Given the description of an element on the screen output the (x, y) to click on. 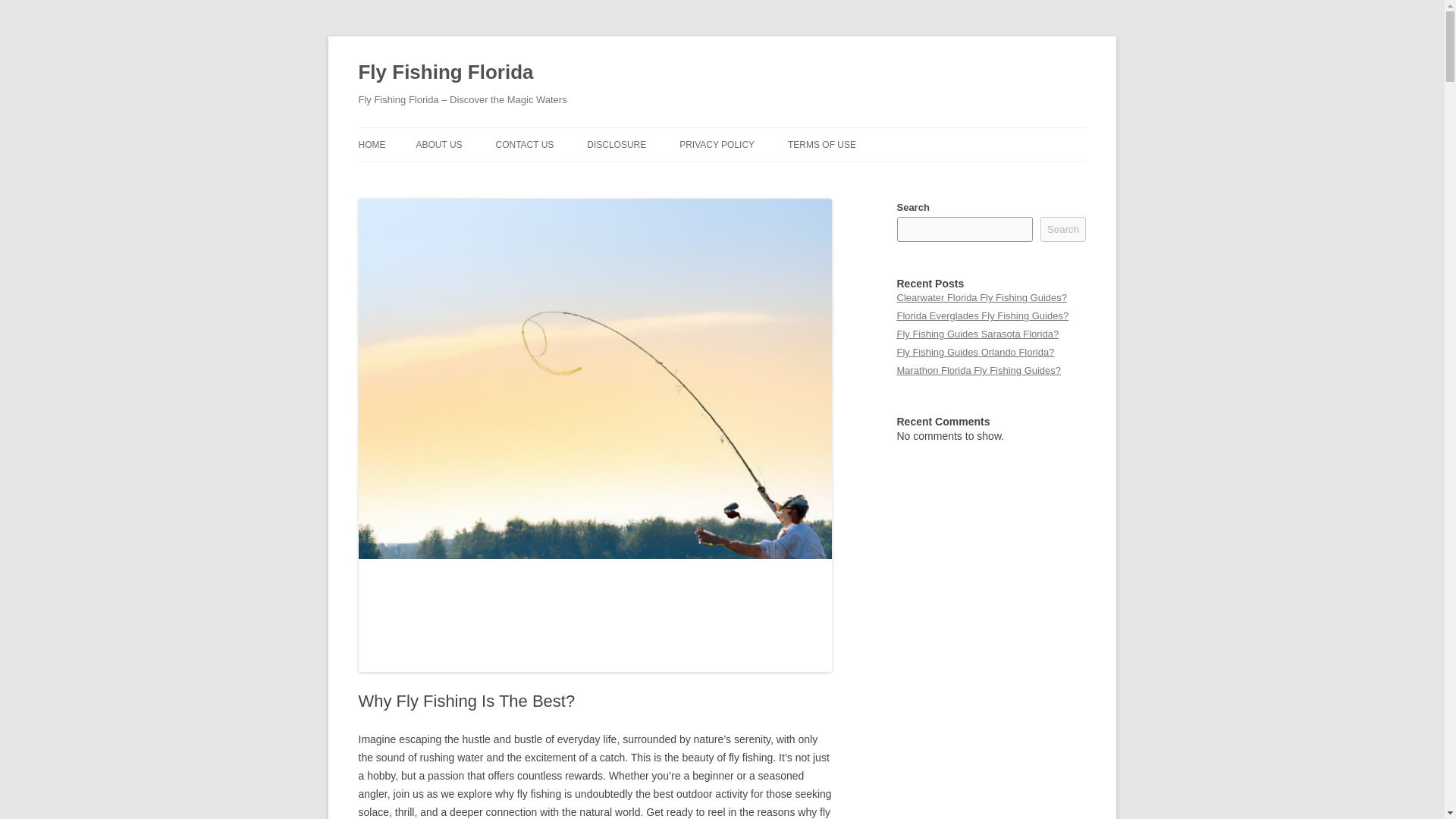
CONTACT US (524, 144)
ABOUT US (437, 144)
DISCLOSURE (616, 144)
TERMS OF USE (821, 144)
PRIVACY POLICY (716, 144)
Fly Fishing Florida (445, 72)
